Given the description of an element on the screen output the (x, y) to click on. 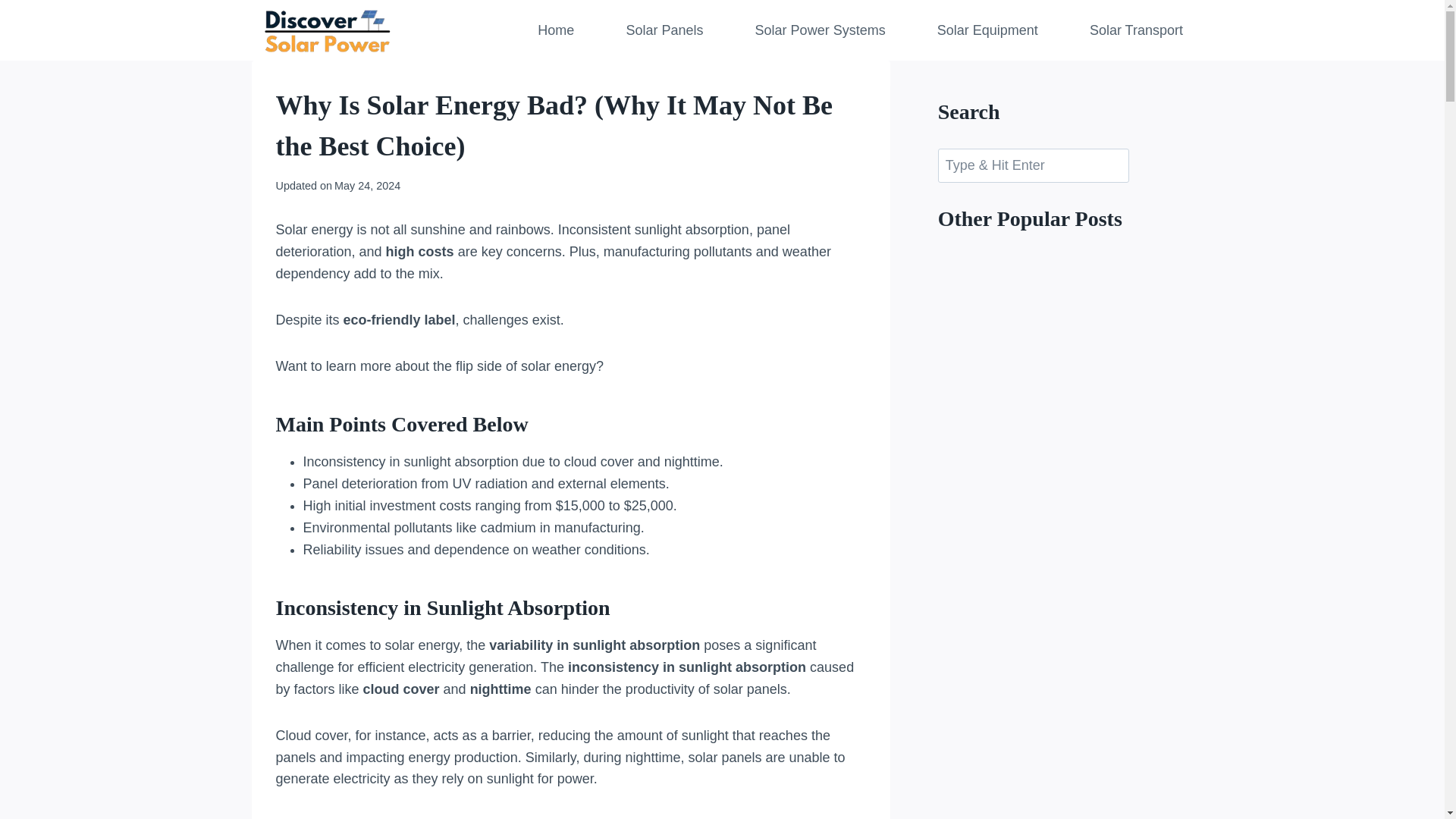
Solar Equipment (987, 30)
Solar Power Systems (819, 30)
Search (1033, 165)
Solar Panels (664, 30)
Home (556, 30)
Solar Transport (1135, 30)
